Given the description of an element on the screen output the (x, y) to click on. 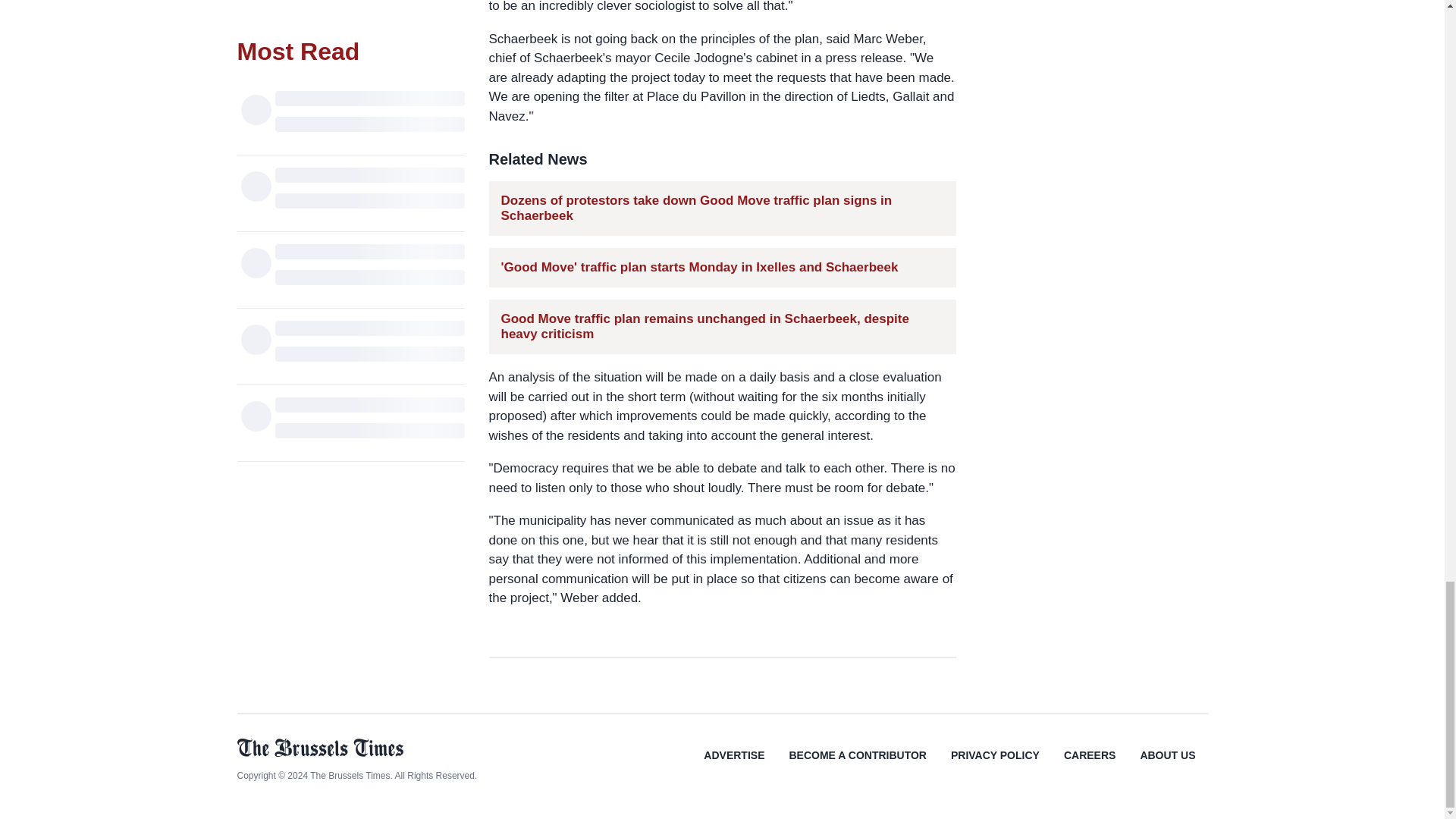
CAREERS (1088, 766)
BECOME A CONTRIBUTOR (856, 766)
ADVERTISE (733, 766)
ABOUT US (1166, 766)
PRIVACY POLICY (995, 766)
